Given the description of an element on the screen output the (x, y) to click on. 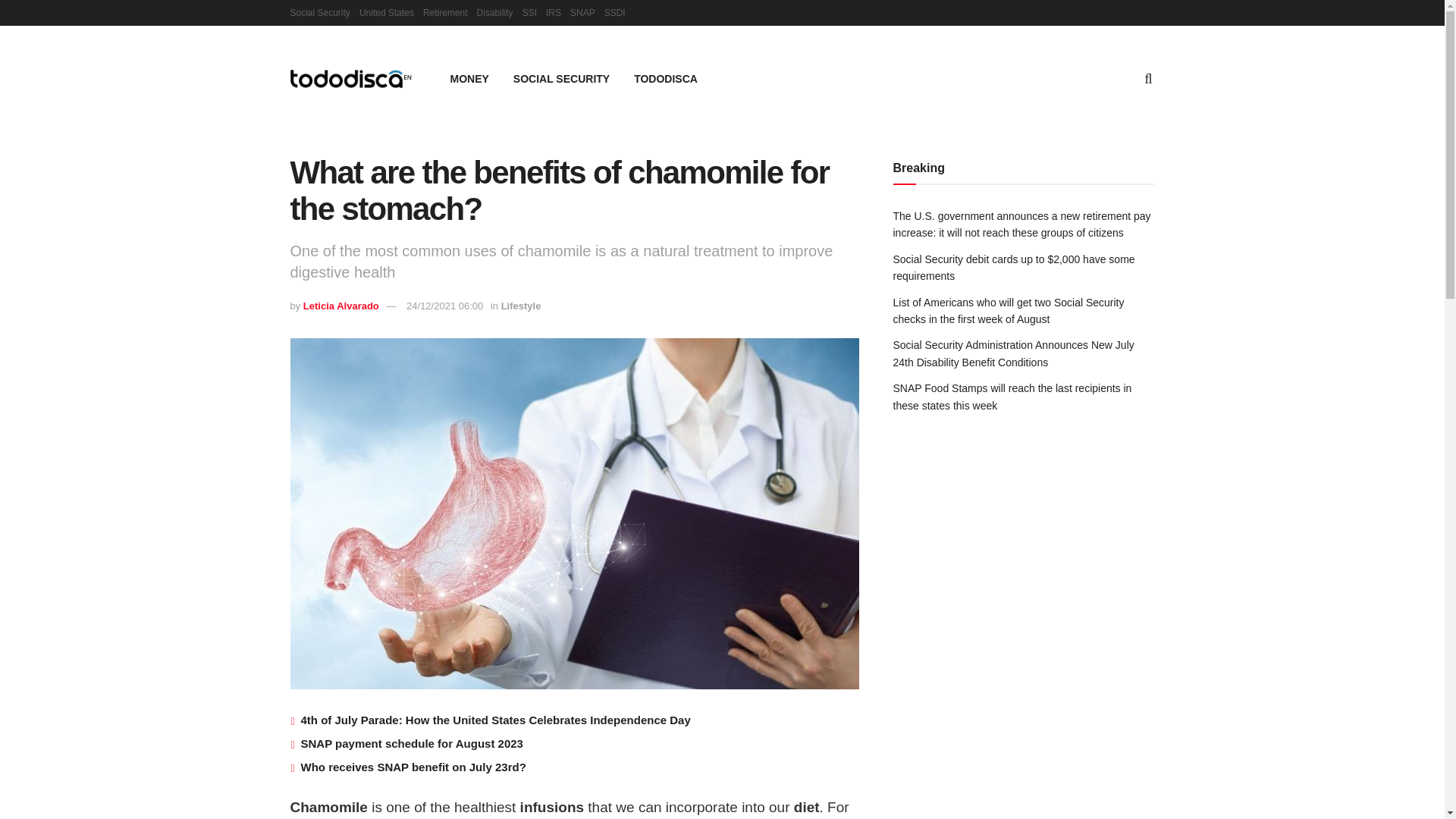
Social Security (319, 12)
SNAP payment schedule for August 2023 (410, 743)
SNAP (582, 12)
TODODISCA (665, 78)
Retirement (445, 12)
Lifestyle (520, 306)
Who receives SNAP benefit on July 23rd? (412, 766)
Disability (495, 12)
MONEY (469, 78)
SOCIAL SECURITY (560, 78)
